Given the description of an element on the screen output the (x, y) to click on. 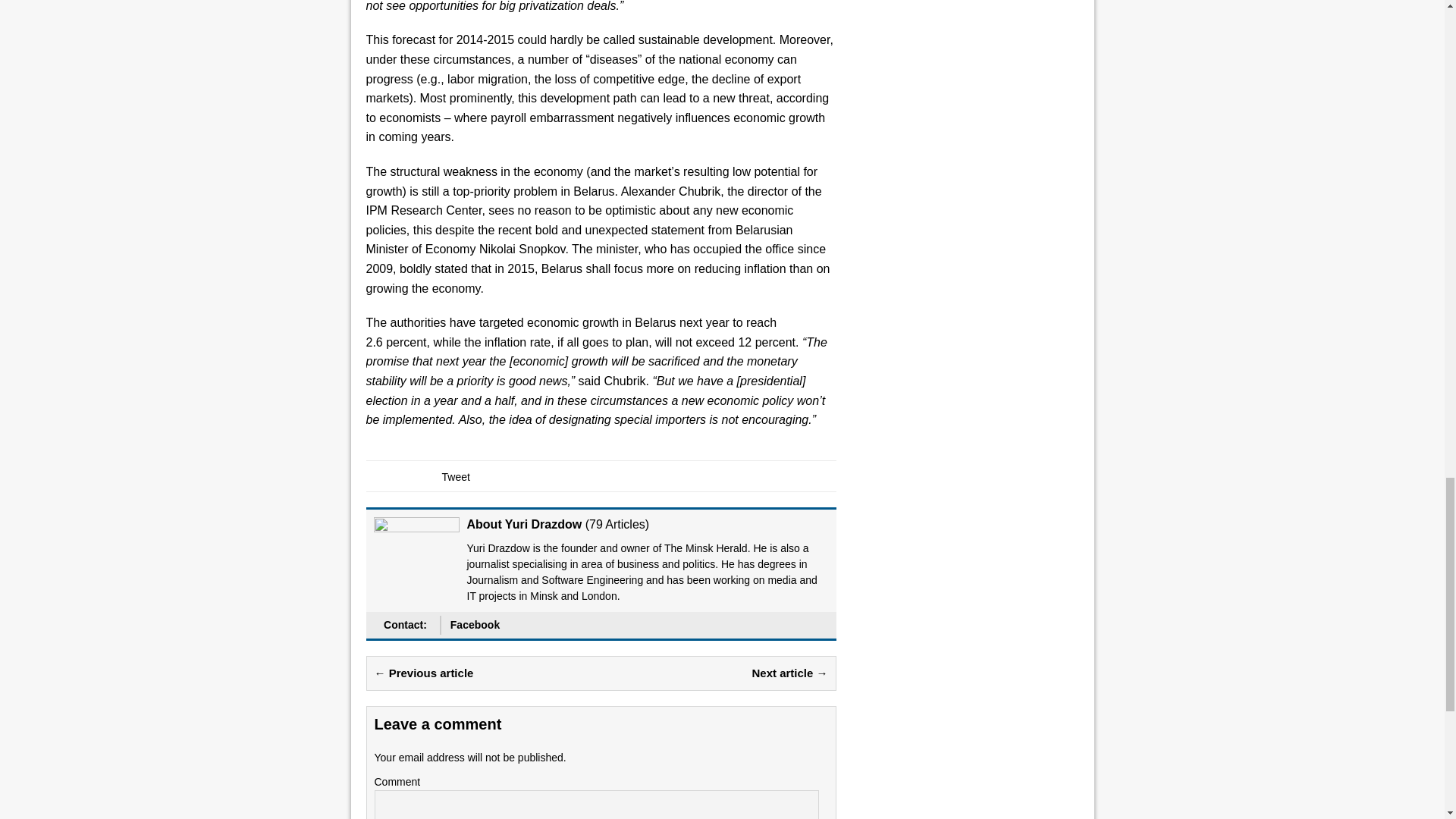
Follow Yuri Drazdow on Facebook (474, 624)
Facebook (474, 624)
79 Articles (617, 523)
Tweet (454, 476)
More articles written by Yuri Drazdow (617, 523)
